Given the description of an element on the screen output the (x, y) to click on. 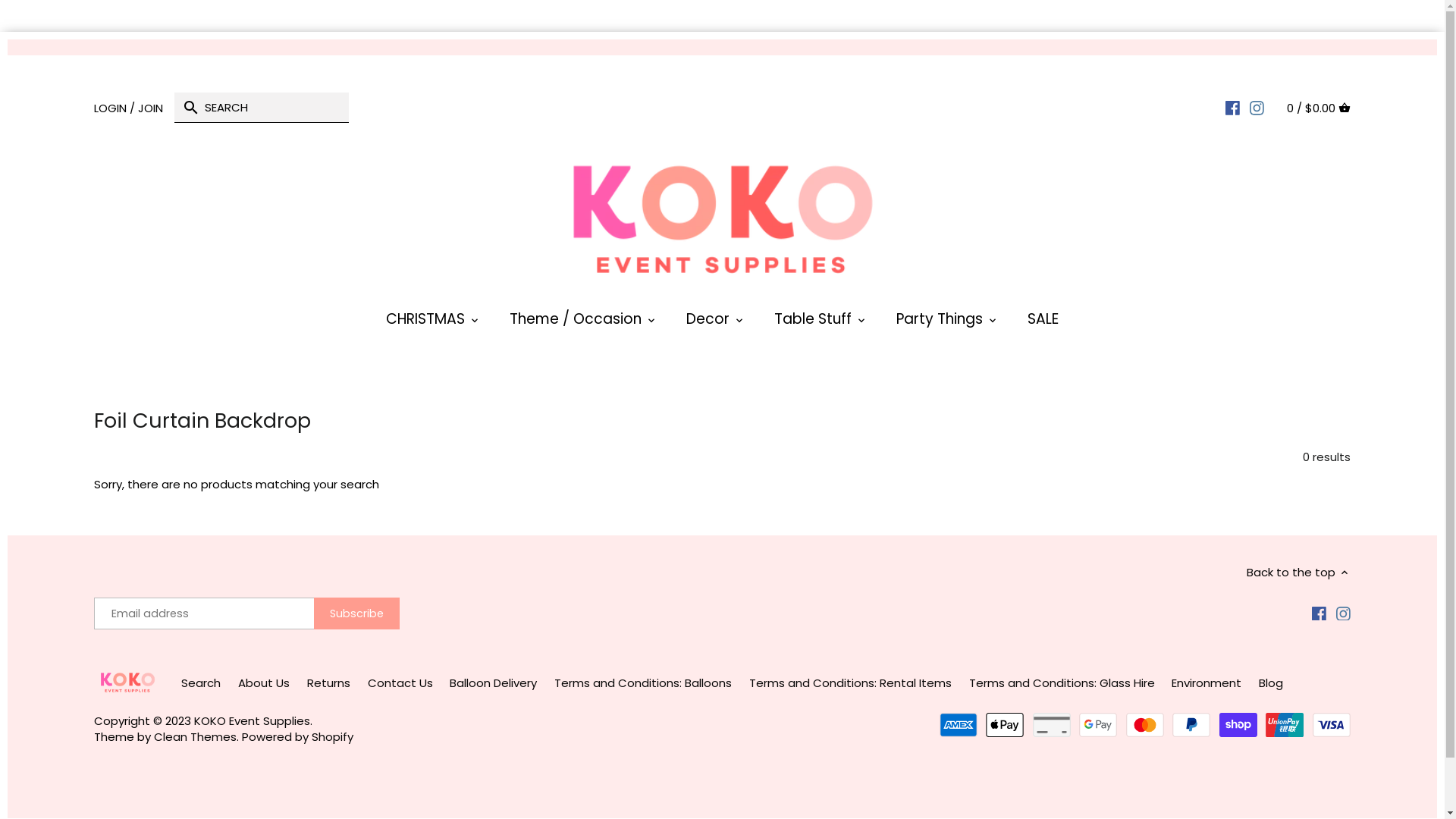
Blog Element type: text (1270, 682)
LOGIN Element type: text (110, 107)
Terms and Conditions: Glass Hire Element type: text (1061, 682)
FACEBOOK Element type: text (1232, 106)
Search Element type: text (200, 682)
Facebook Element type: text (1318, 612)
Environment Element type: text (1206, 682)
Back to the top Element type: text (1298, 571)
Subscribe Element type: text (356, 613)
About Us Element type: text (263, 682)
0 / $0.00 CART Element type: text (1318, 107)
Terms and Conditions: Rental Items Element type: text (850, 682)
Powered by Shopify Element type: text (297, 736)
CHRISTMAS Element type: text (425, 322)
JOIN Element type: text (150, 107)
KOKO Event Supplies Element type: text (252, 720)
Returns Element type: text (328, 682)
Party Things Element type: text (939, 322)
Table Stuff Element type: text (812, 322)
Terms and Conditions: Balloons Element type: text (642, 682)
INSTAGRAM Element type: text (1256, 106)
SALE Element type: text (1043, 322)
Decor Element type: text (707, 322)
Instagram Element type: text (1343, 612)
Balloon Delivery Element type: text (492, 682)
Search Element type: text (191, 110)
Contact Us Element type: text (399, 682)
Clean Themes Element type: text (194, 736)
Theme / Occasion Element type: text (575, 322)
